Given the description of an element on the screen output the (x, y) to click on. 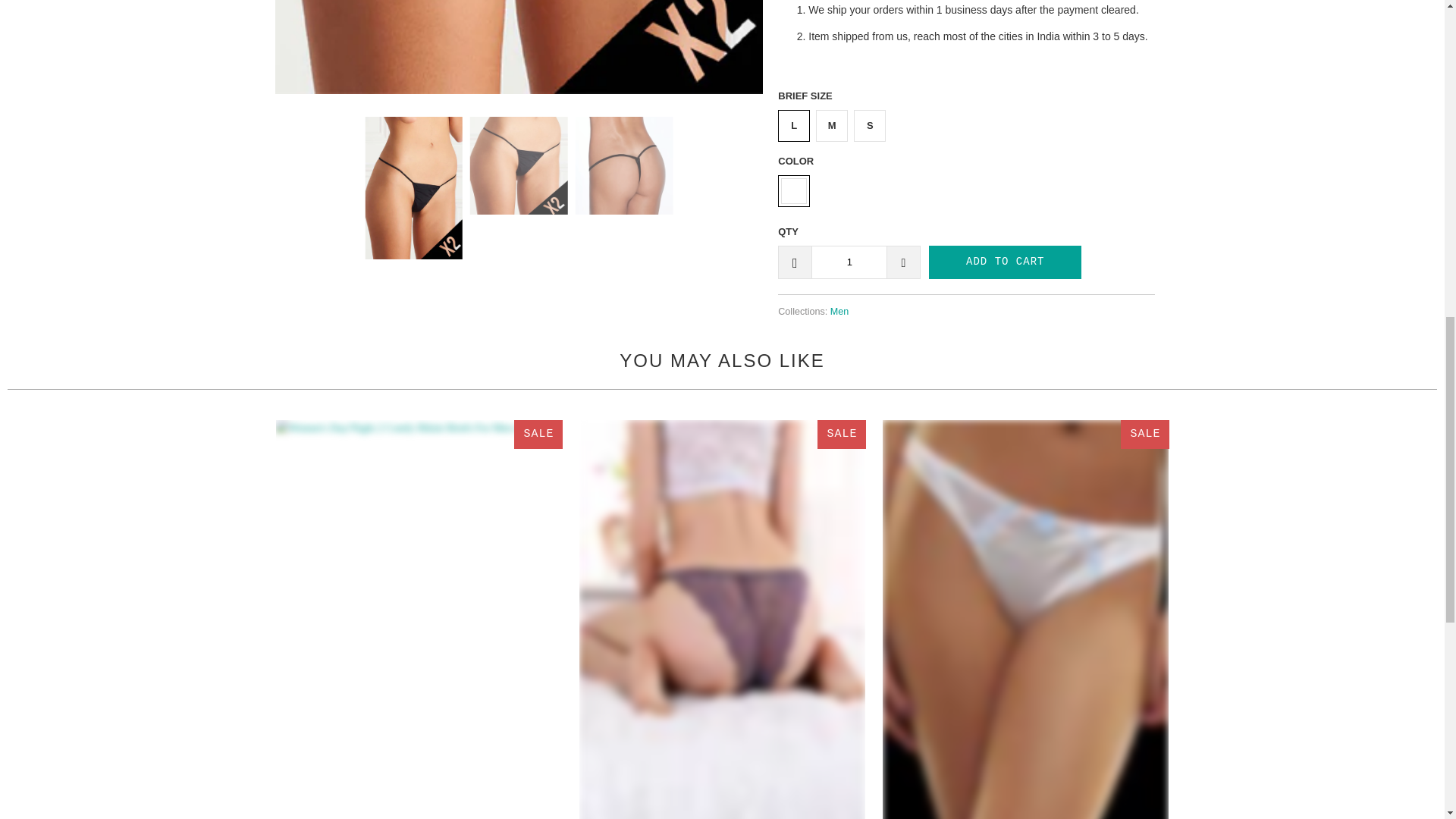
Men (838, 311)
1 (848, 262)
